Given the description of an element on the screen output the (x, y) to click on. 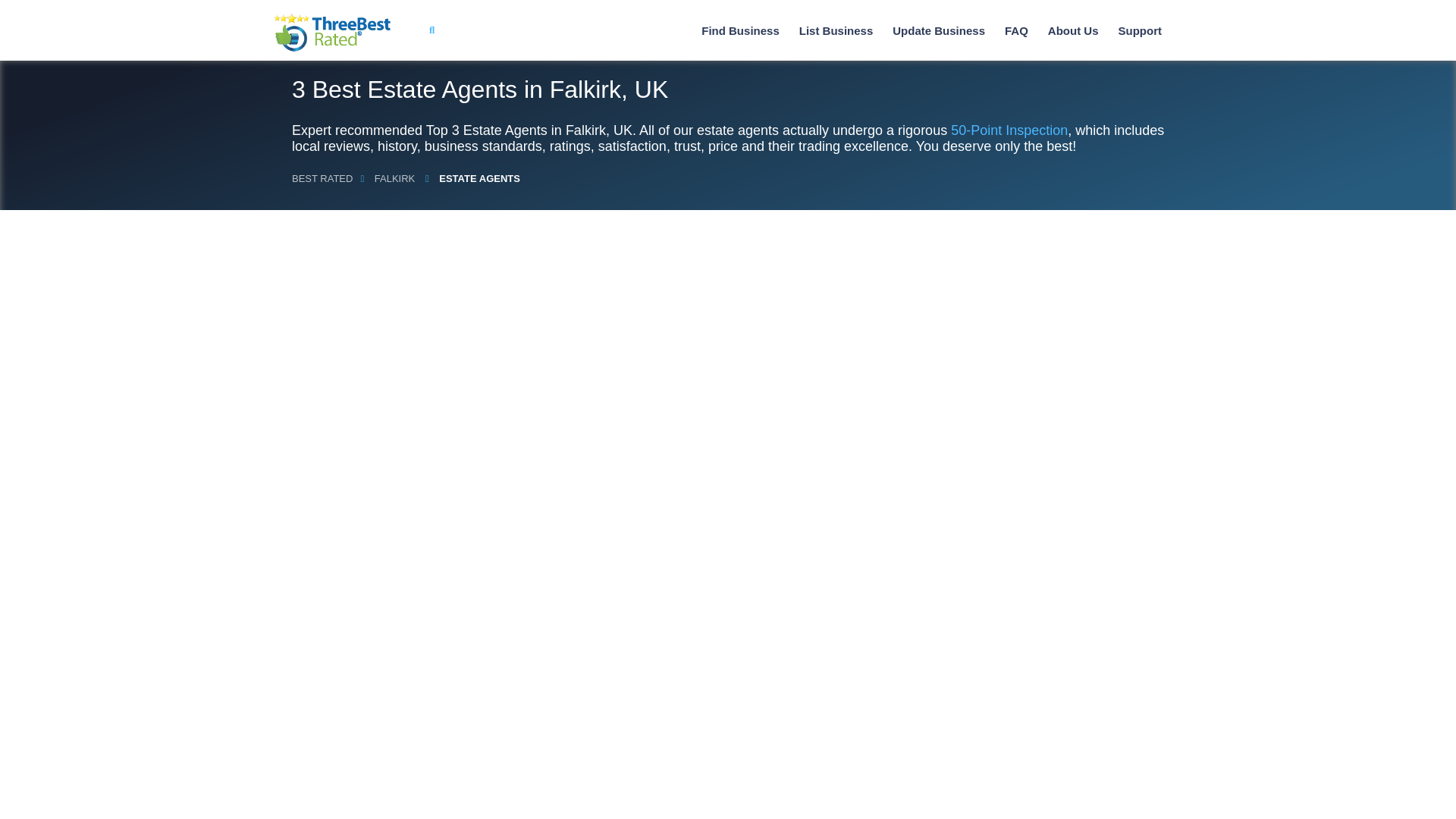
List Business (836, 30)
About Us (1073, 30)
Find Business (740, 30)
Support (1139, 30)
How does Three Best Rated AU work? (1073, 30)
BEST RATED (321, 178)
FAQ (1016, 30)
List your business for Free! (836, 30)
FALKIRK (394, 178)
ThreeBestRated.co.uk (331, 32)
Update Business (938, 30)
50-Point Inspection (1008, 130)
Update your business for Free! (938, 30)
